Given the description of an element on the screen output the (x, y) to click on. 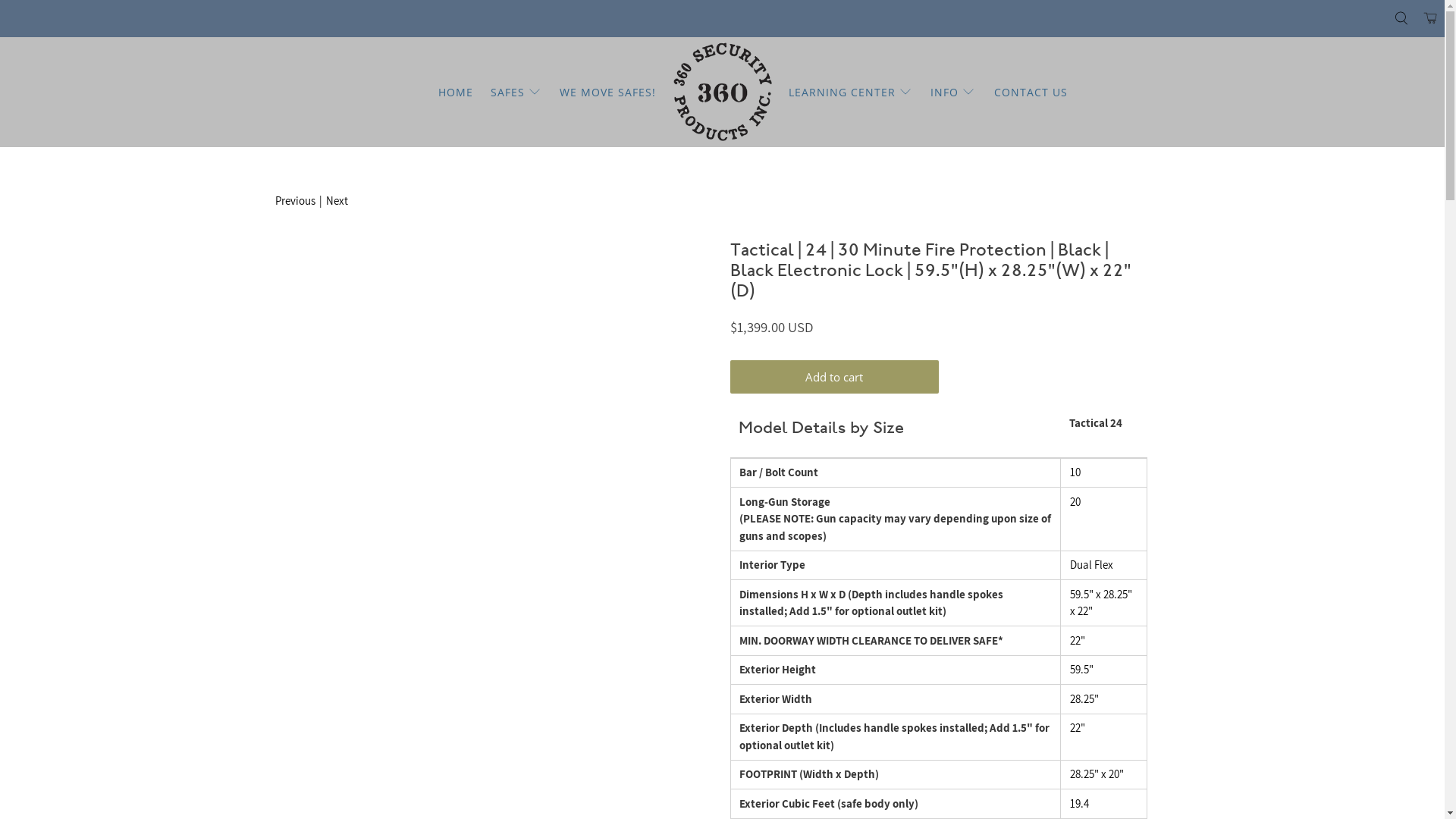
Next Element type: text (337, 201)
SAFES Element type: text (516, 91)
CONTACT US Element type: text (1030, 91)
HOME Element type: text (455, 91)
Previous Element type: text (294, 201)
INFO Element type: text (953, 91)
LEARNING CENTER Element type: text (851, 91)
WE MOVE SAFES! Element type: text (608, 91)
Add to cart Element type: text (833, 376)
